Given the description of an element on the screen output the (x, y) to click on. 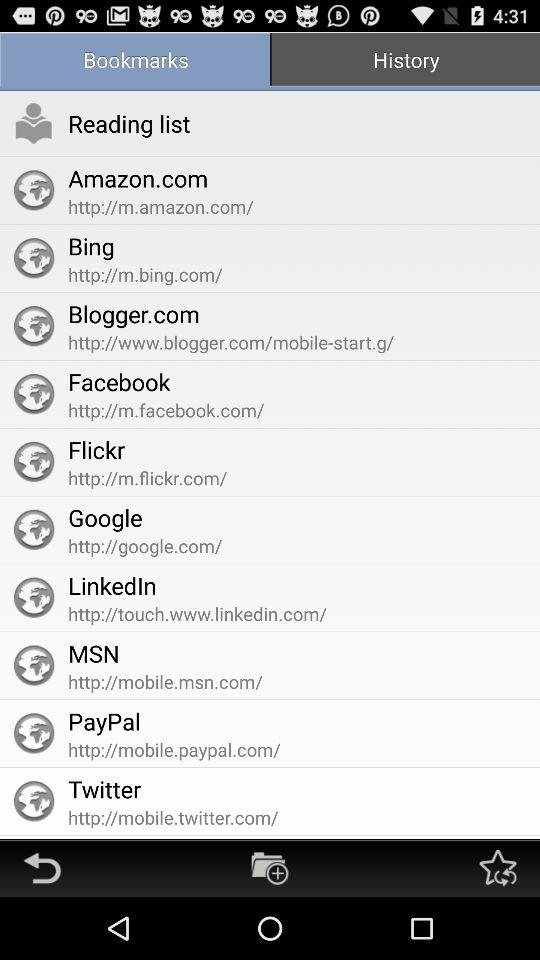
scroll until the reading list (129, 123)
